Given the description of an element on the screen output the (x, y) to click on. 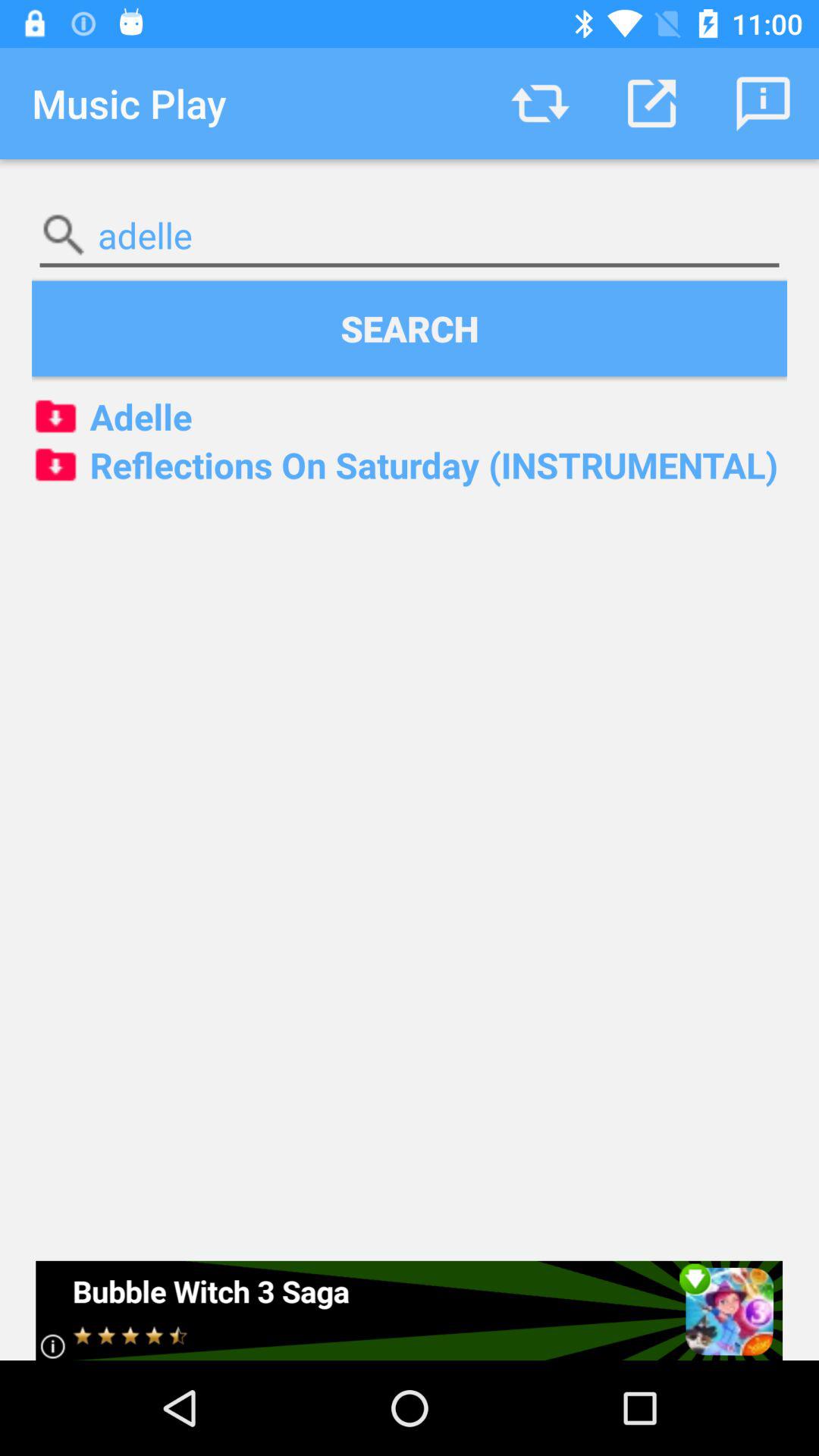
press item below the adelle icon (409, 464)
